Given the description of an element on the screen output the (x, y) to click on. 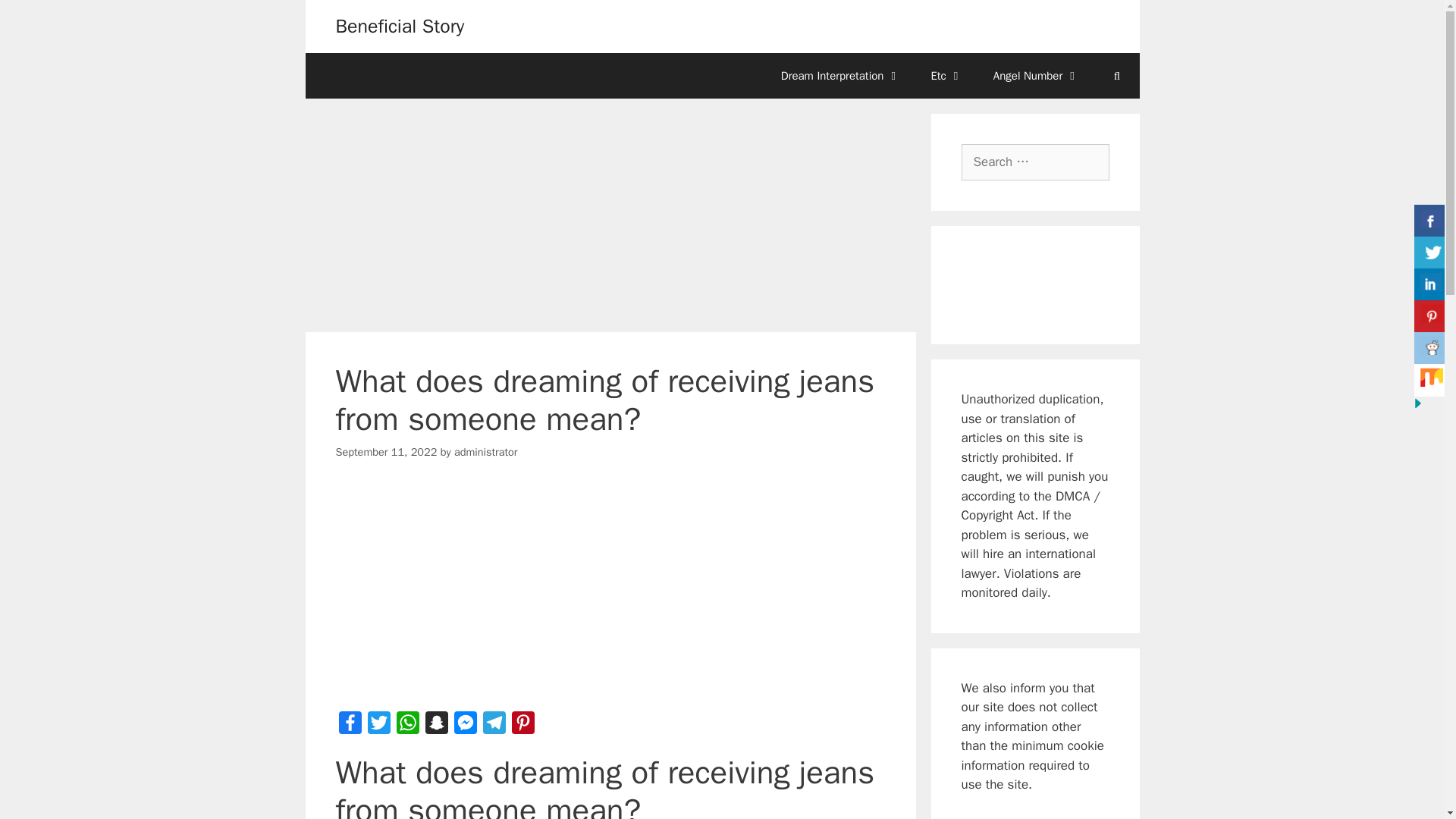
WhatsApp (407, 726)
Twitter (378, 726)
Facebook (349, 726)
Etc (945, 75)
Beneficial Story (399, 25)
Dream Interpretation (840, 75)
Facebook (349, 726)
Telegram (493, 726)
WhatsApp (407, 726)
View all posts by administrator (486, 451)
